Given the description of an element on the screen output the (x, y) to click on. 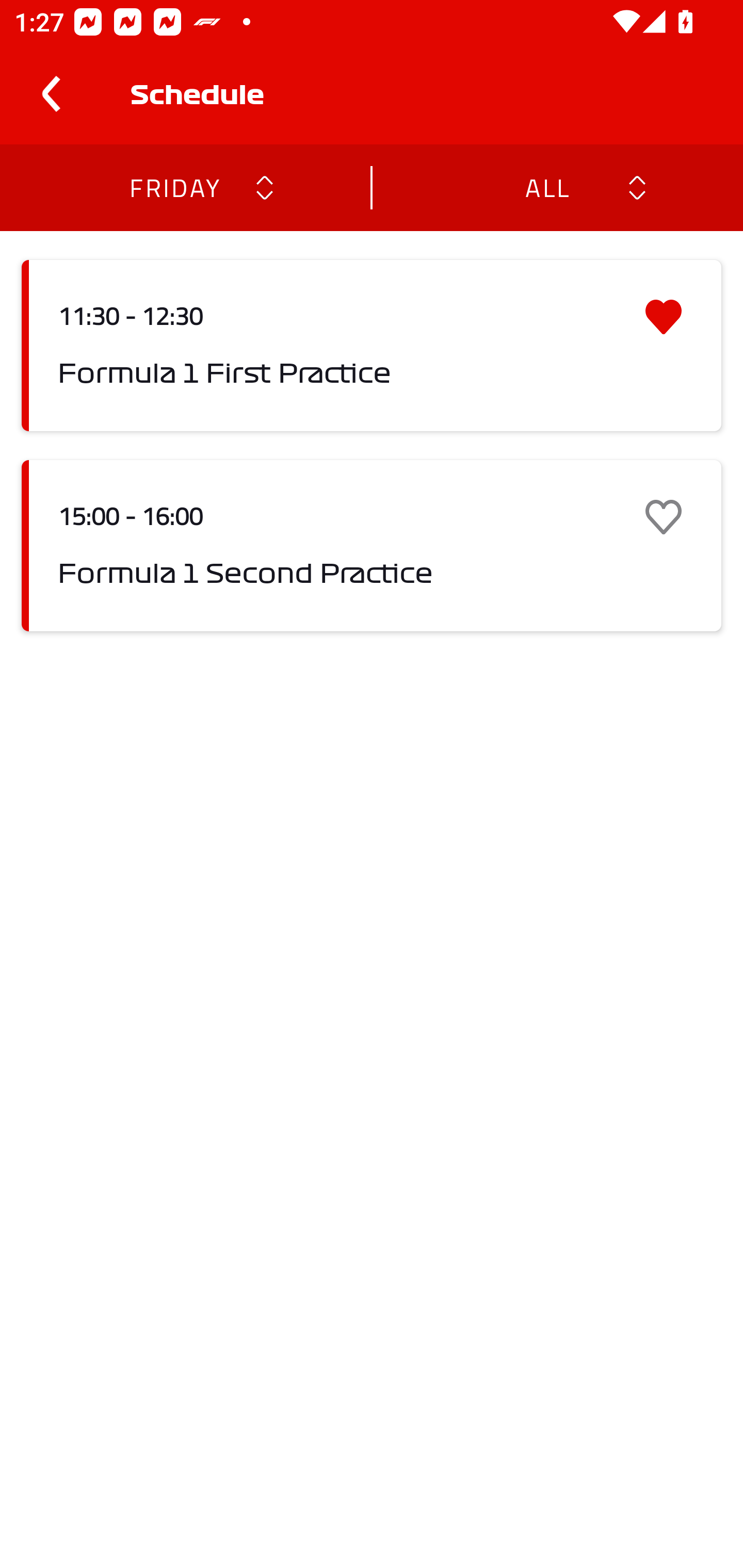
Navigate up (50, 93)
FRIDAY (174, 187)
ALL (546, 187)
11:30 - 12:30 Formula 1 First Practice (371, 345)
15:00 - 16:00 Formula 1 Second Practice (371, 545)
